Given the description of an element on the screen output the (x, y) to click on. 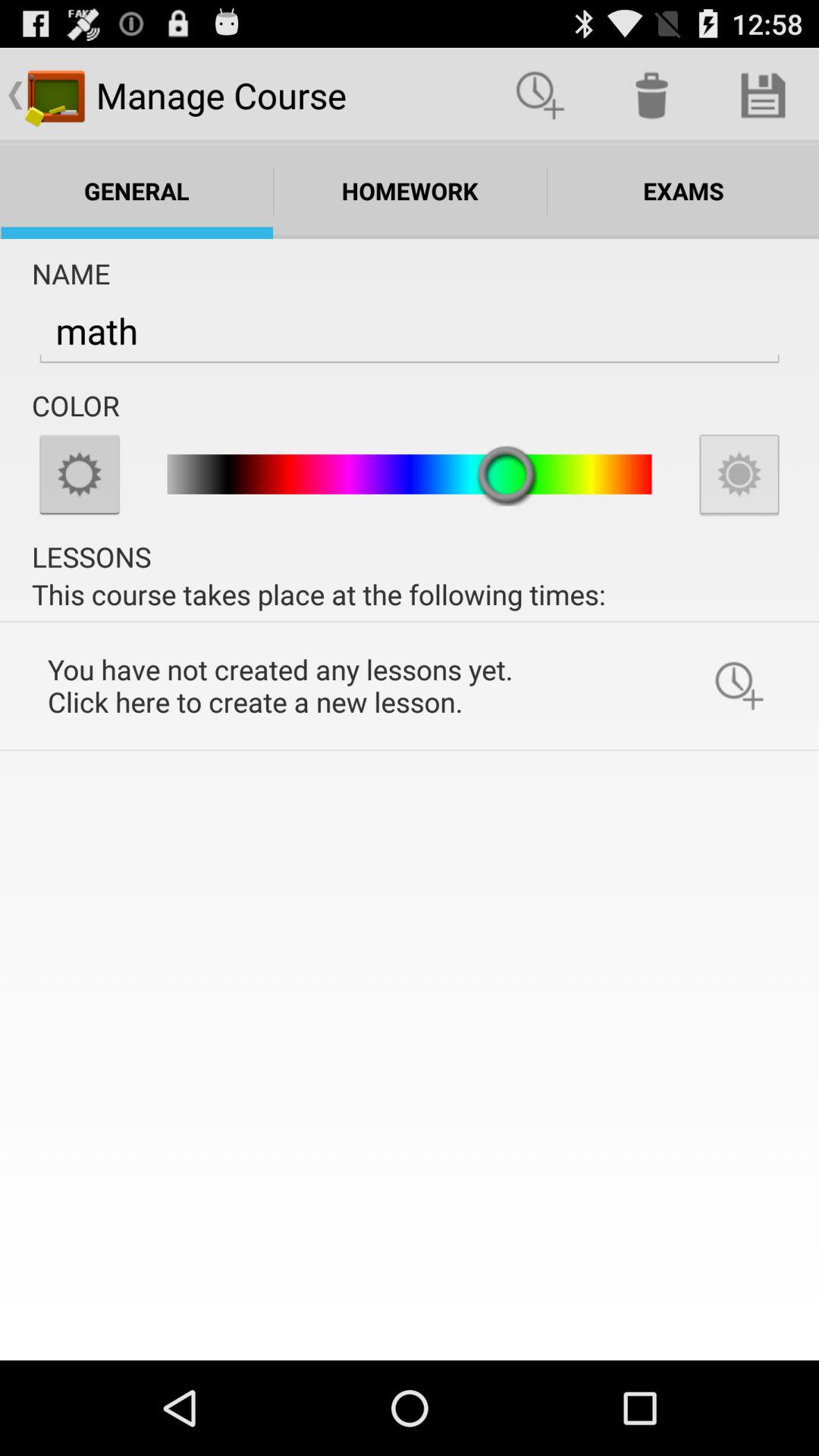
adjust color (79, 474)
